Given the description of an element on the screen output the (x, y) to click on. 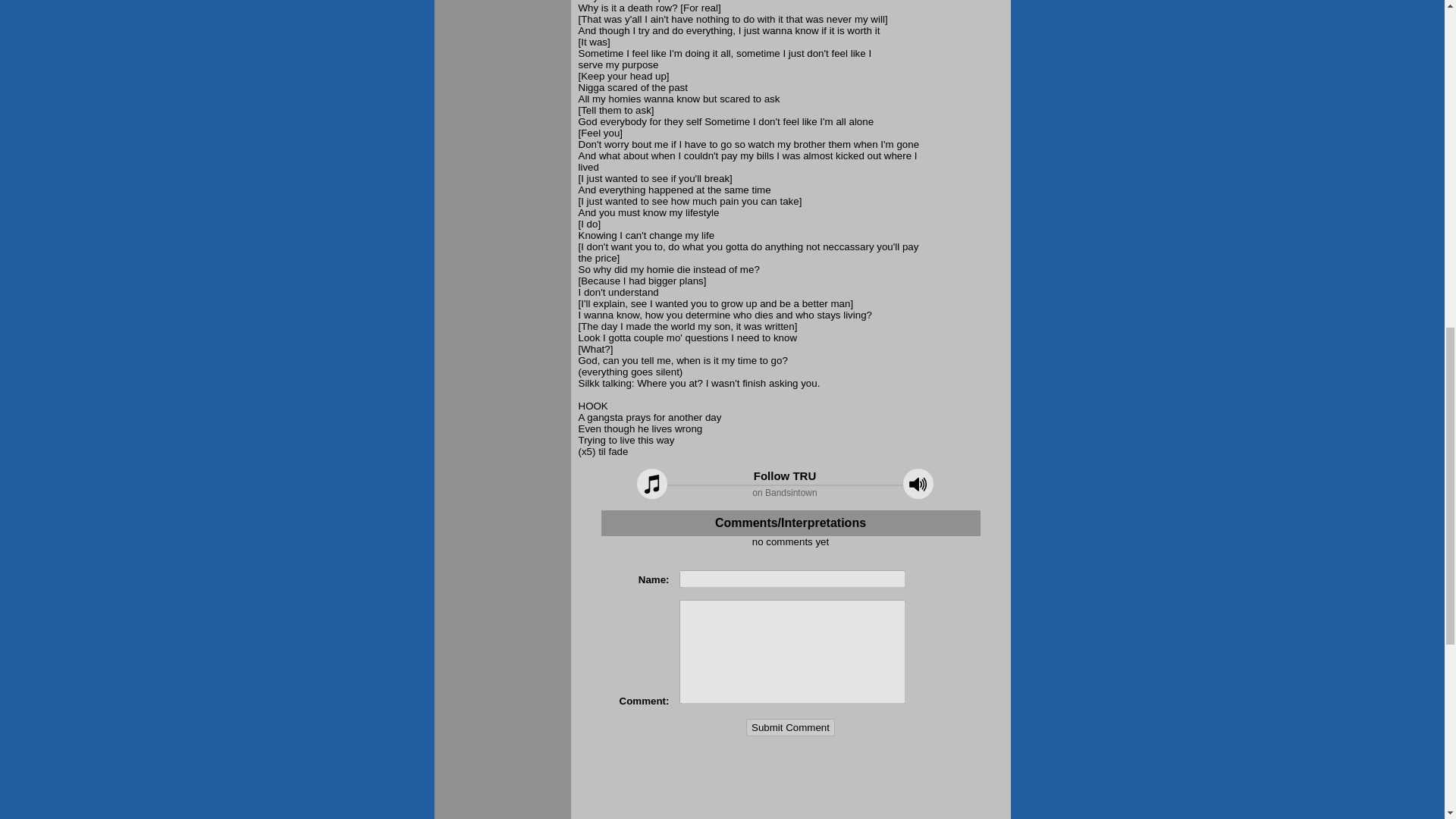
Submit Comment (789, 727)
Submit Comment (789, 727)
